Given the description of an element on the screen output the (x, y) to click on. 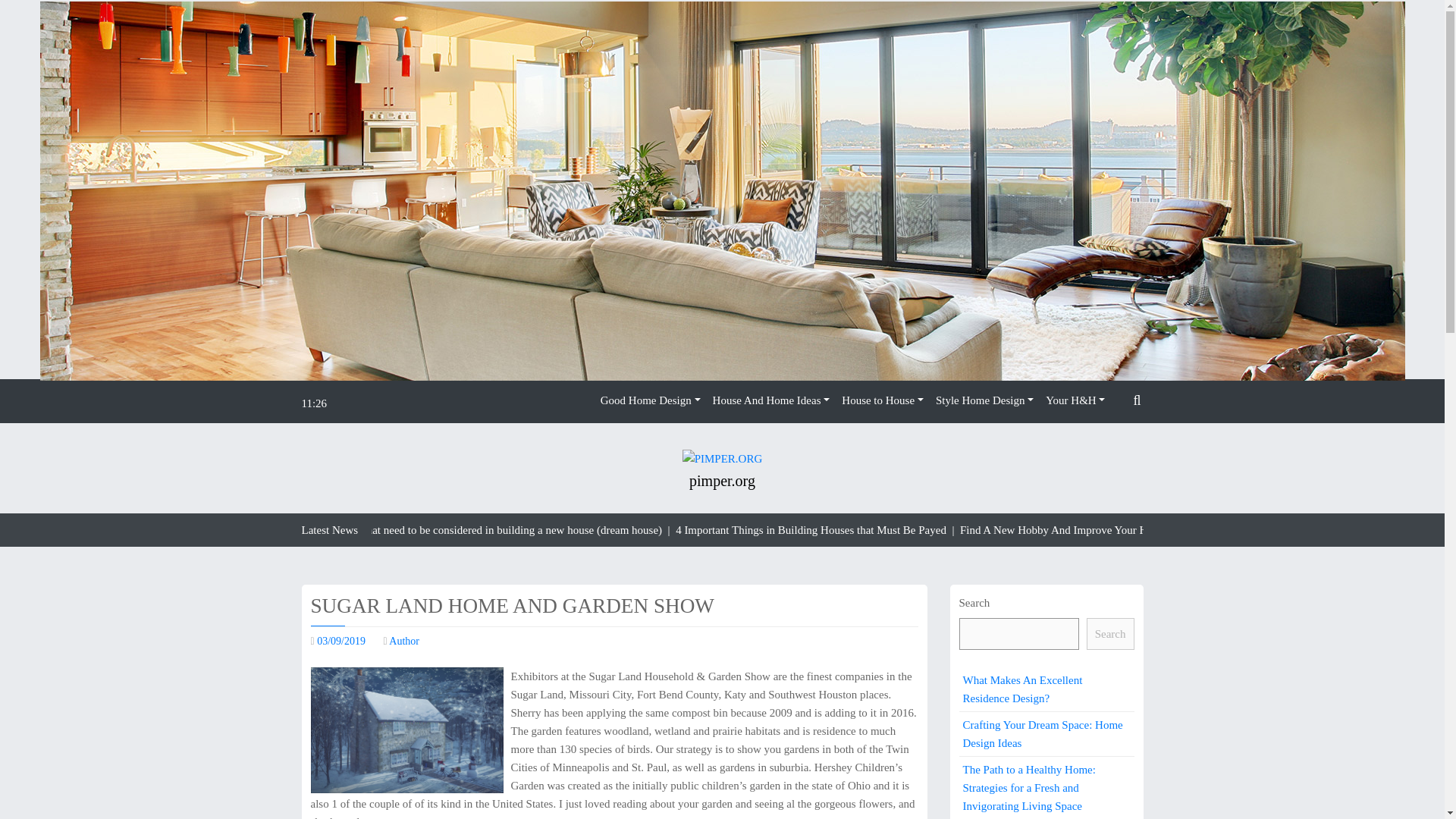
Author (403, 641)
House And Home Ideas (770, 399)
Search (1110, 634)
Good Home Design (650, 399)
Crafting Your Dream Space: Home Design Ideas (1046, 733)
Search (1109, 436)
What Makes An Excellent Residence Design? (1046, 689)
House to House (882, 399)
Style Home Design (984, 399)
